Given the description of an element on the screen output the (x, y) to click on. 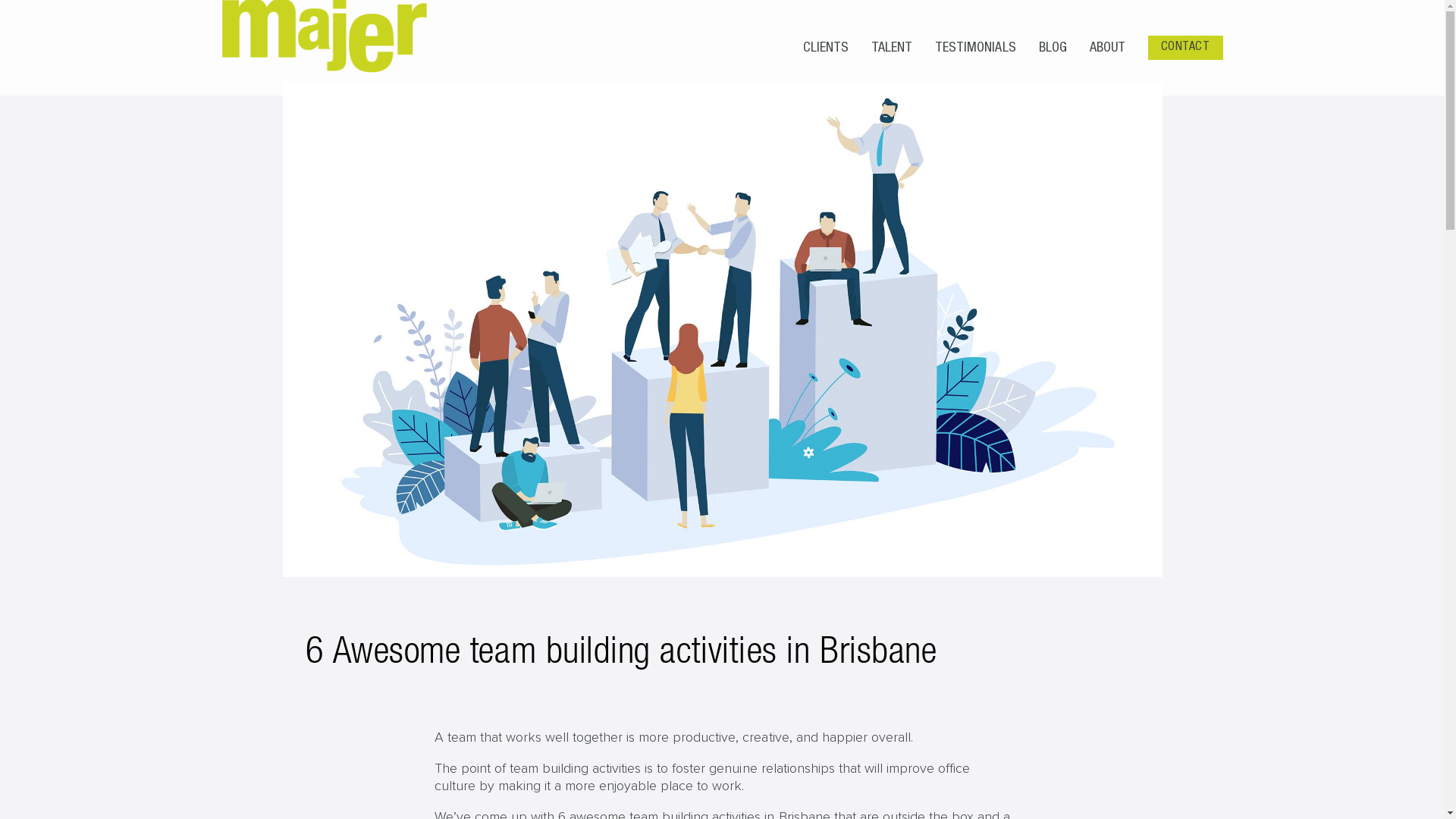
TESTIMONIALS Element type: text (975, 47)
TALENT Element type: text (891, 47)
BLOG Element type: text (1052, 47)
ABOUT Element type: text (1107, 47)
CLIENTS Element type: text (825, 47)
CONTACT Element type: text (1185, 47)
